Given the description of an element on the screen output the (x, y) to click on. 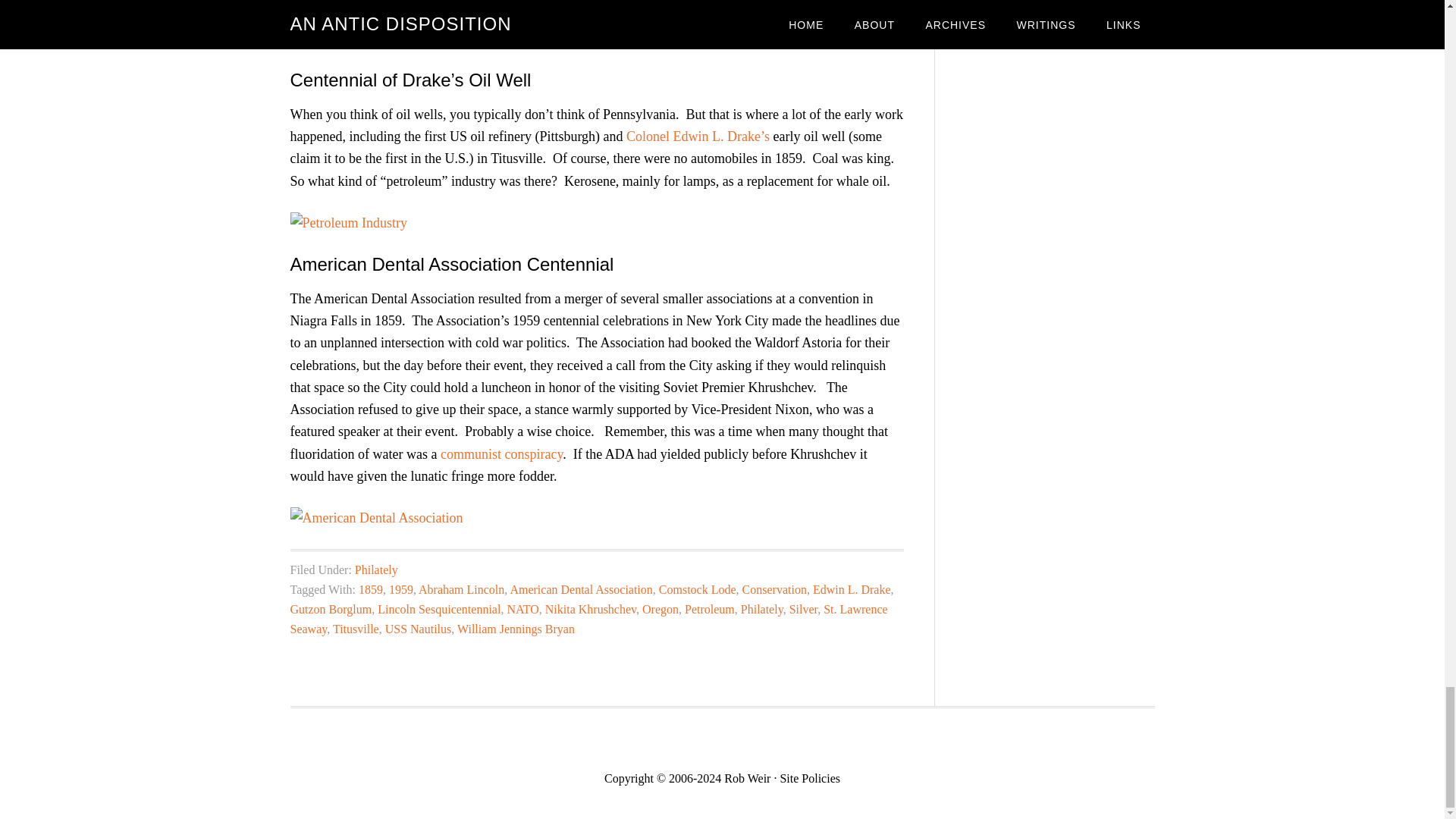
Soil Conservation (344, 38)
Philately (376, 569)
American Dental Association (376, 517)
1859 (370, 589)
communist conspiracy (501, 453)
Petroleum Industry (347, 222)
